Given the description of an element on the screen output the (x, y) to click on. 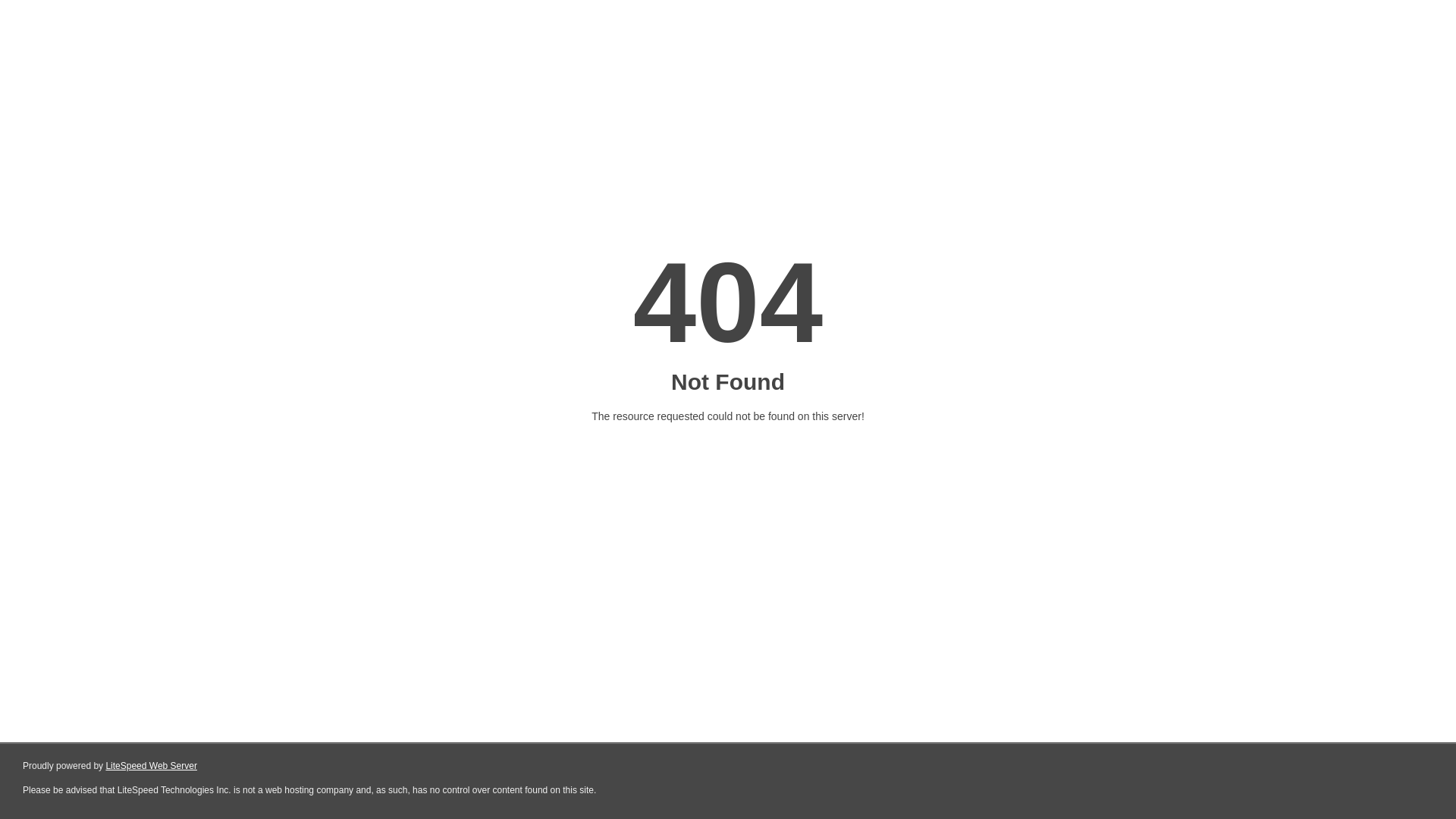
LiteSpeed Web Server Element type: text (151, 765)
